Given the description of an element on the screen output the (x, y) to click on. 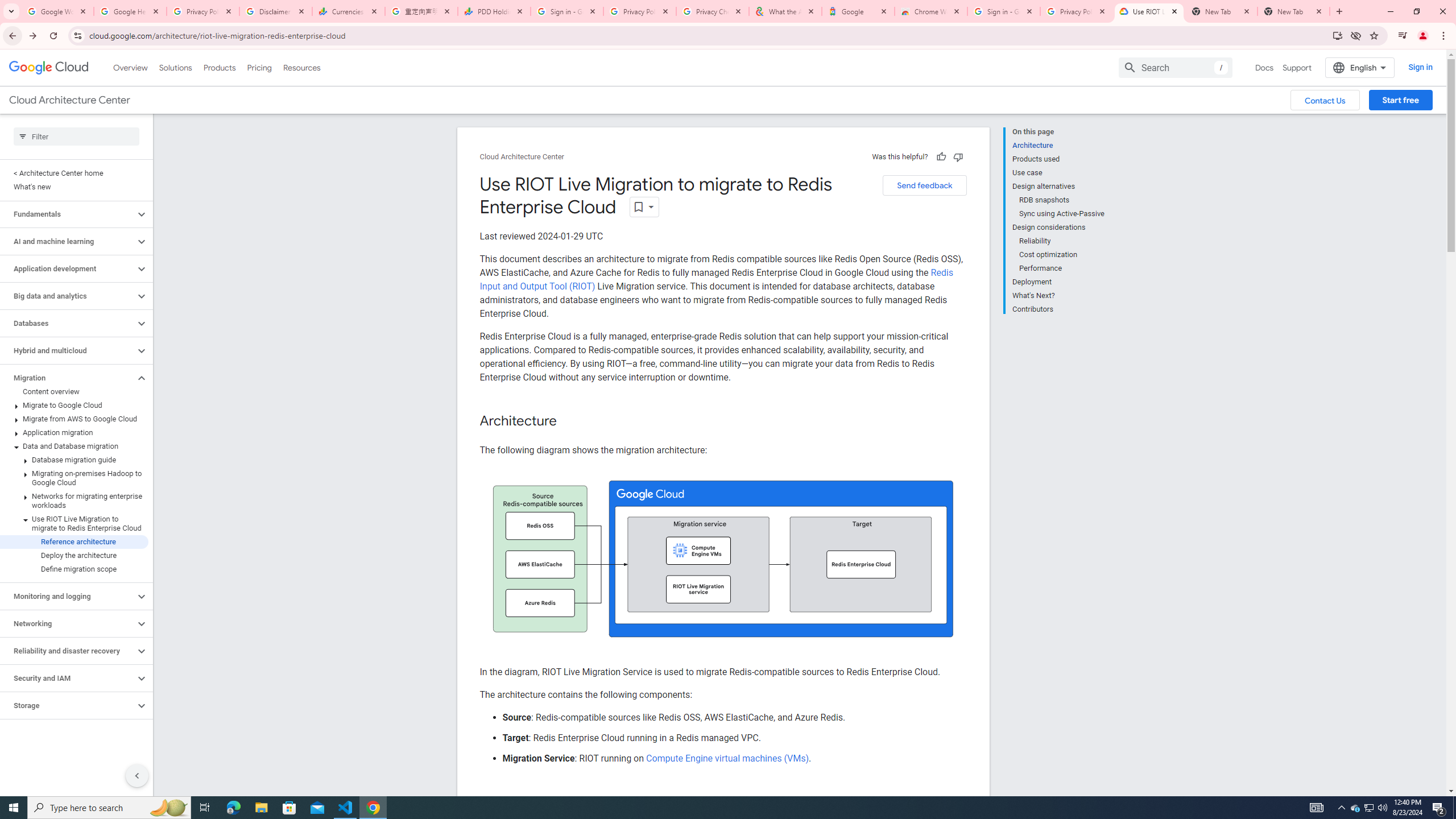
New Tab (1293, 11)
Content overview (74, 391)
Performance (1062, 268)
Send feedback (924, 185)
Data and Database migration (74, 445)
Copy link to this section: Architecture (567, 421)
Application migration (74, 432)
Redis Input and Output Tool (RIOT) (716, 278)
AI and machine learning (67, 241)
Chrome Web Store - Color themes by Chrome (930, 11)
Application development (67, 269)
Reliability (1062, 241)
Networking (67, 623)
